Given the description of an element on the screen output the (x, y) to click on. 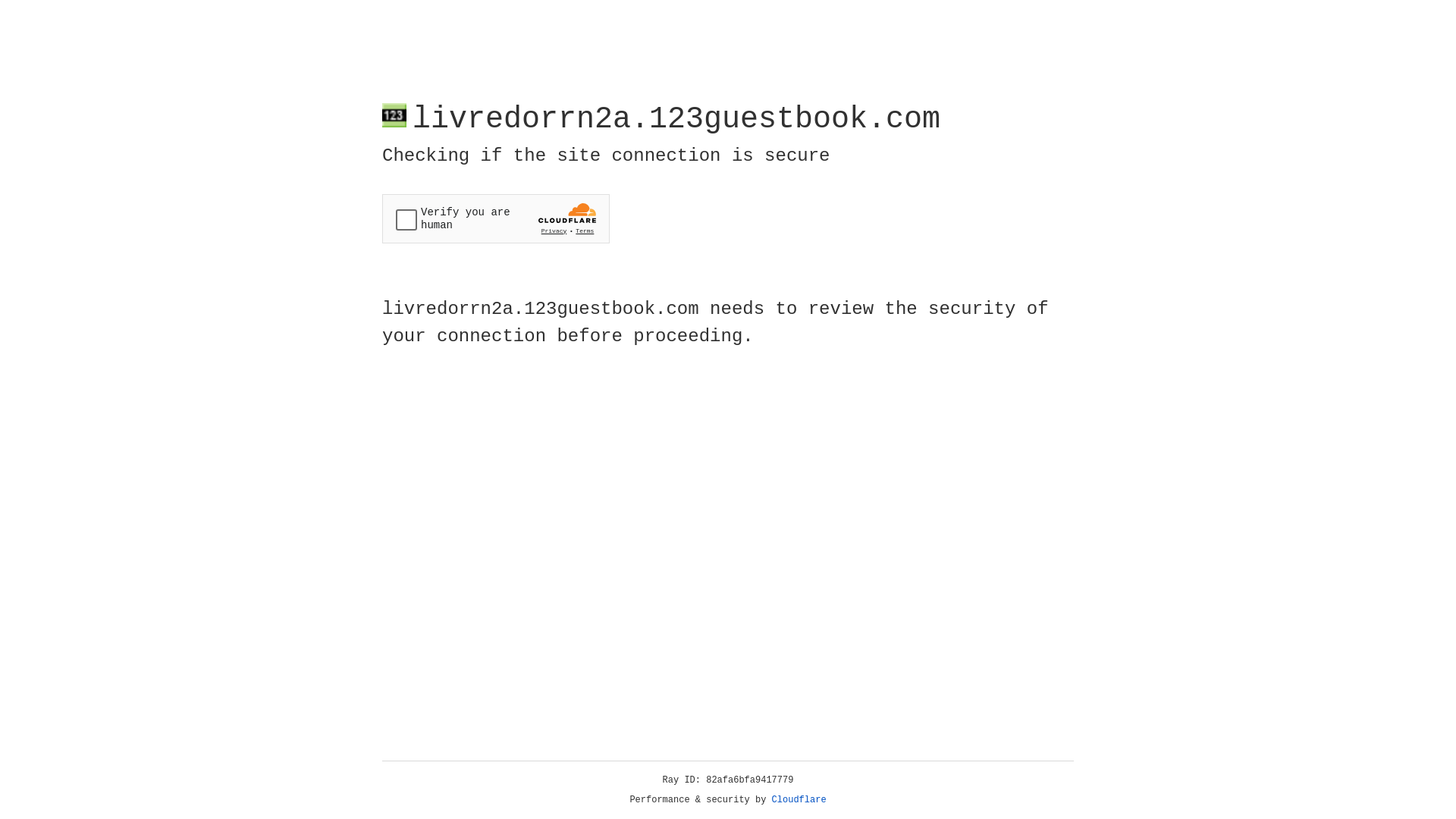
Widget containing a Cloudflare security challenge Element type: hover (495, 218)
Cloudflare Element type: text (798, 799)
